Given the description of an element on the screen output the (x, y) to click on. 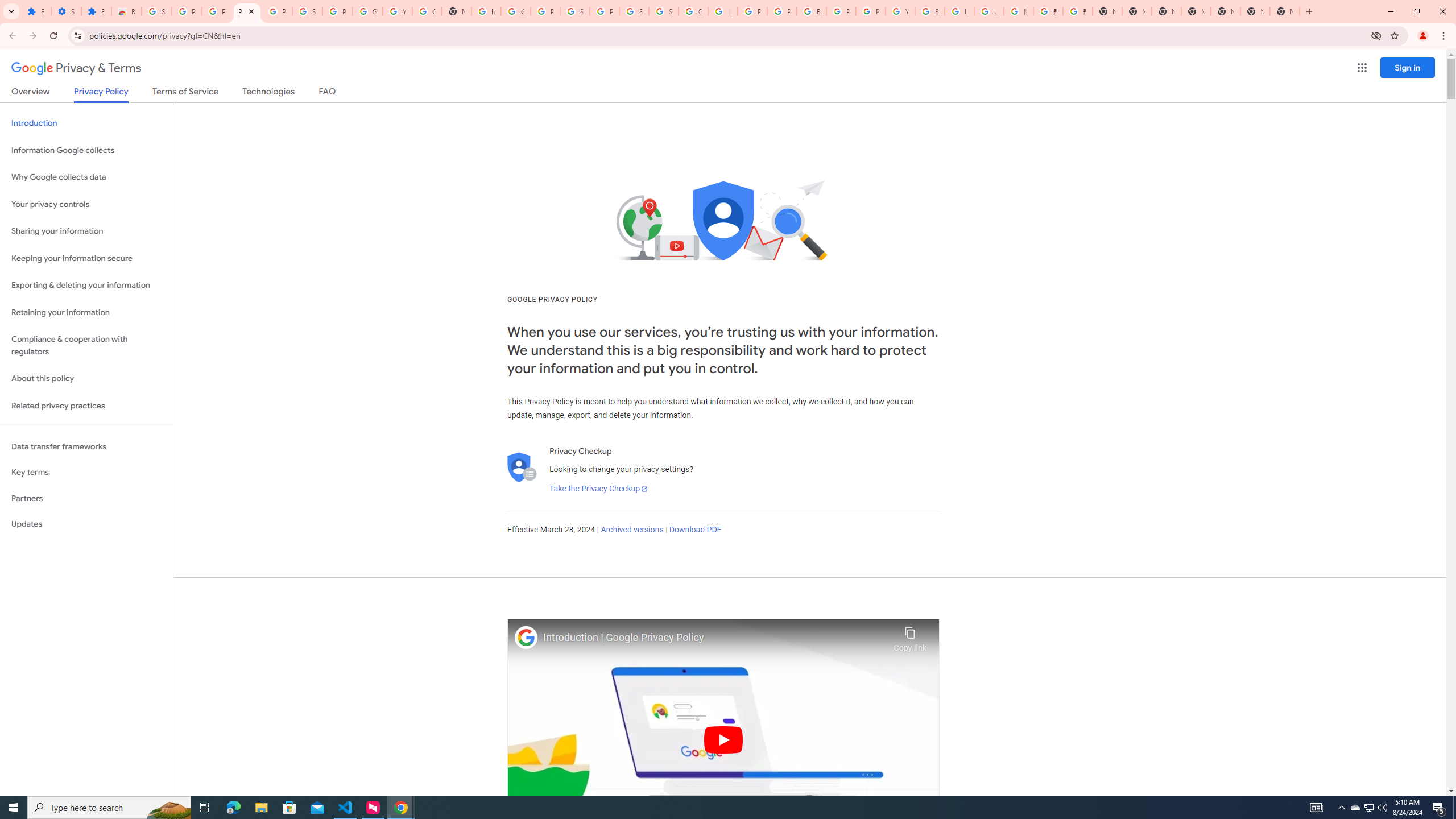
Partners (86, 497)
Retaining your information (86, 312)
Photo image of Google (526, 636)
Download PDF (695, 529)
Copy link (909, 636)
Information Google collects (86, 150)
Exporting & deleting your information (86, 284)
